Given the description of an element on the screen output the (x, y) to click on. 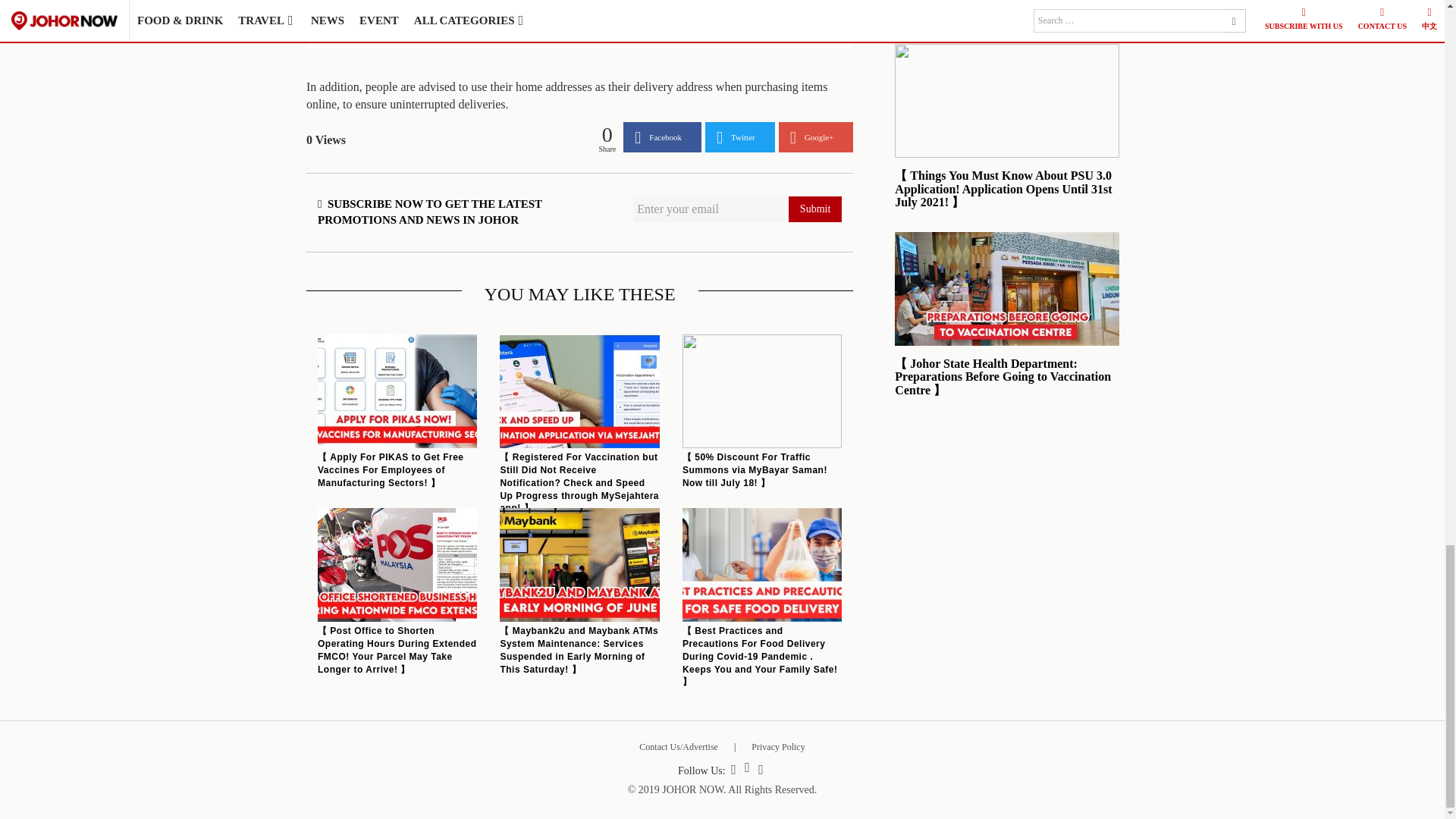
Submit (815, 208)
